Given the description of an element on the screen output the (x, y) to click on. 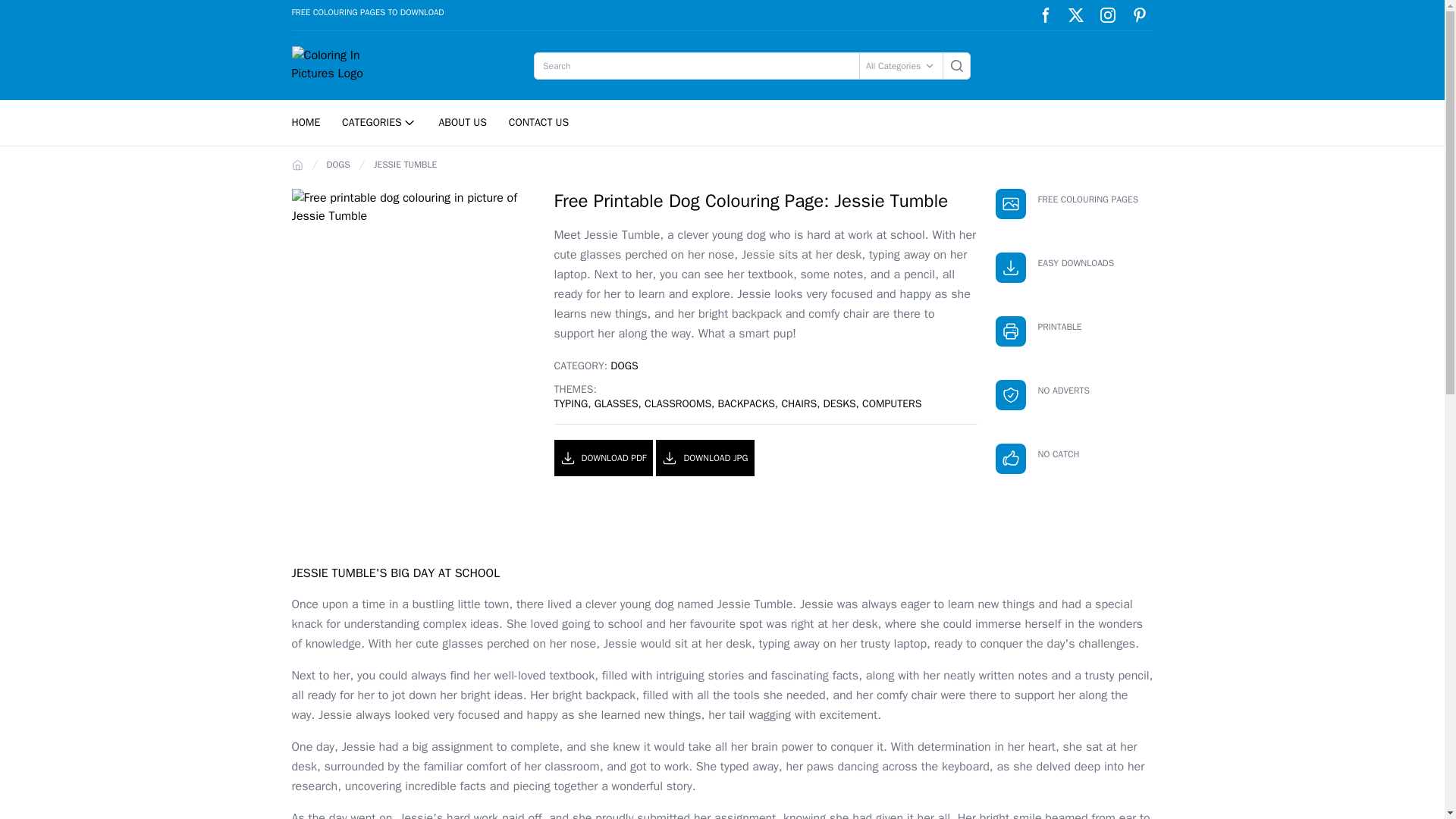
Classroom themed colouring in pages (678, 403)
ABOUT US (462, 122)
Backpack themed colouring in pages (745, 403)
CATEGORIES (379, 122)
Typing themed colouring in pages (570, 403)
HOME (305, 122)
CONTACT US (538, 122)
Instagram (1106, 14)
Computer themed colouring in pages (891, 403)
Glasses themed colouring in pages (616, 403)
Coloring In Pictures (333, 65)
Search (956, 64)
Dog colouring pages (623, 365)
Desk themed colouring in pages (840, 403)
Chair themed colouring in pages (798, 403)
